Given the description of an element on the screen output the (x, y) to click on. 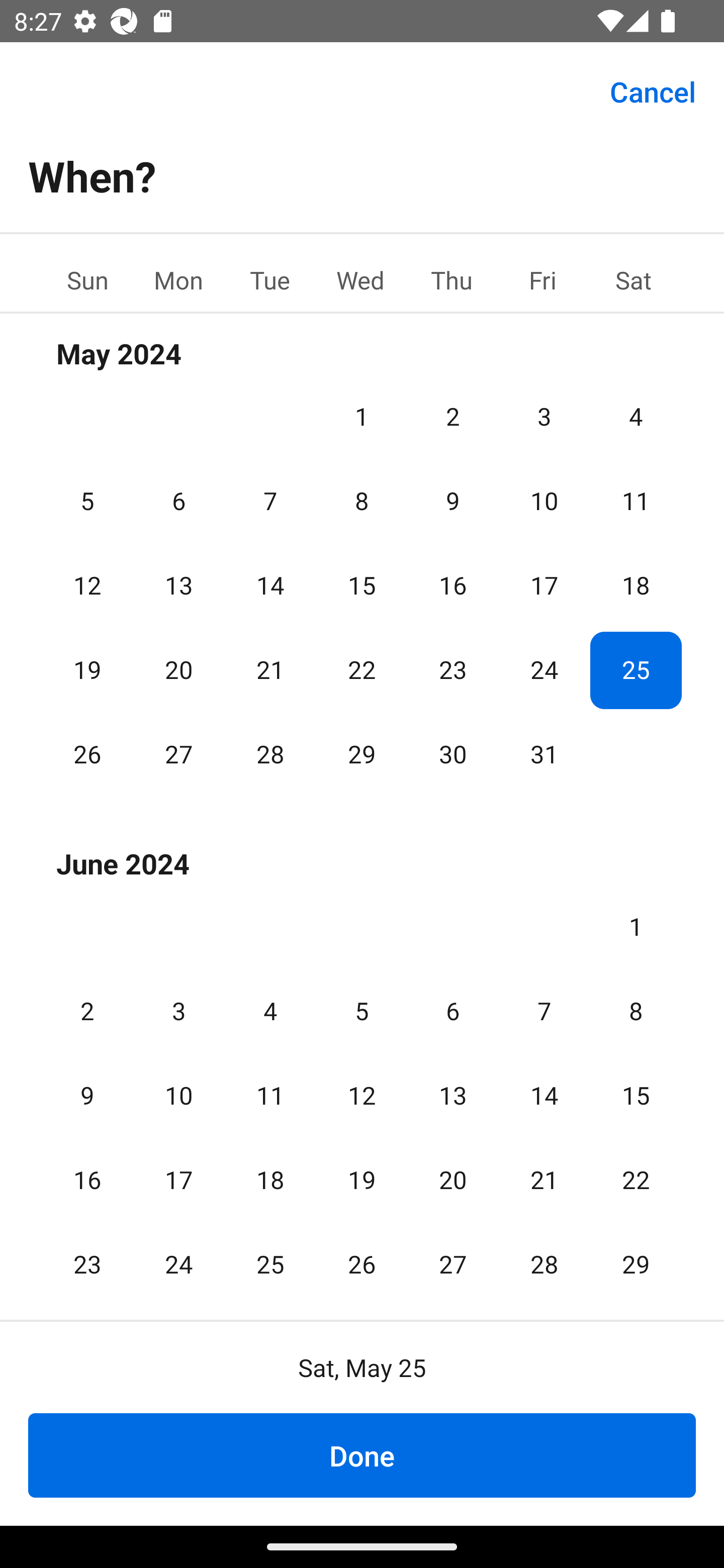
Cancel (652, 90)
Done (361, 1454)
